Given the description of an element on the screen output the (x, y) to click on. 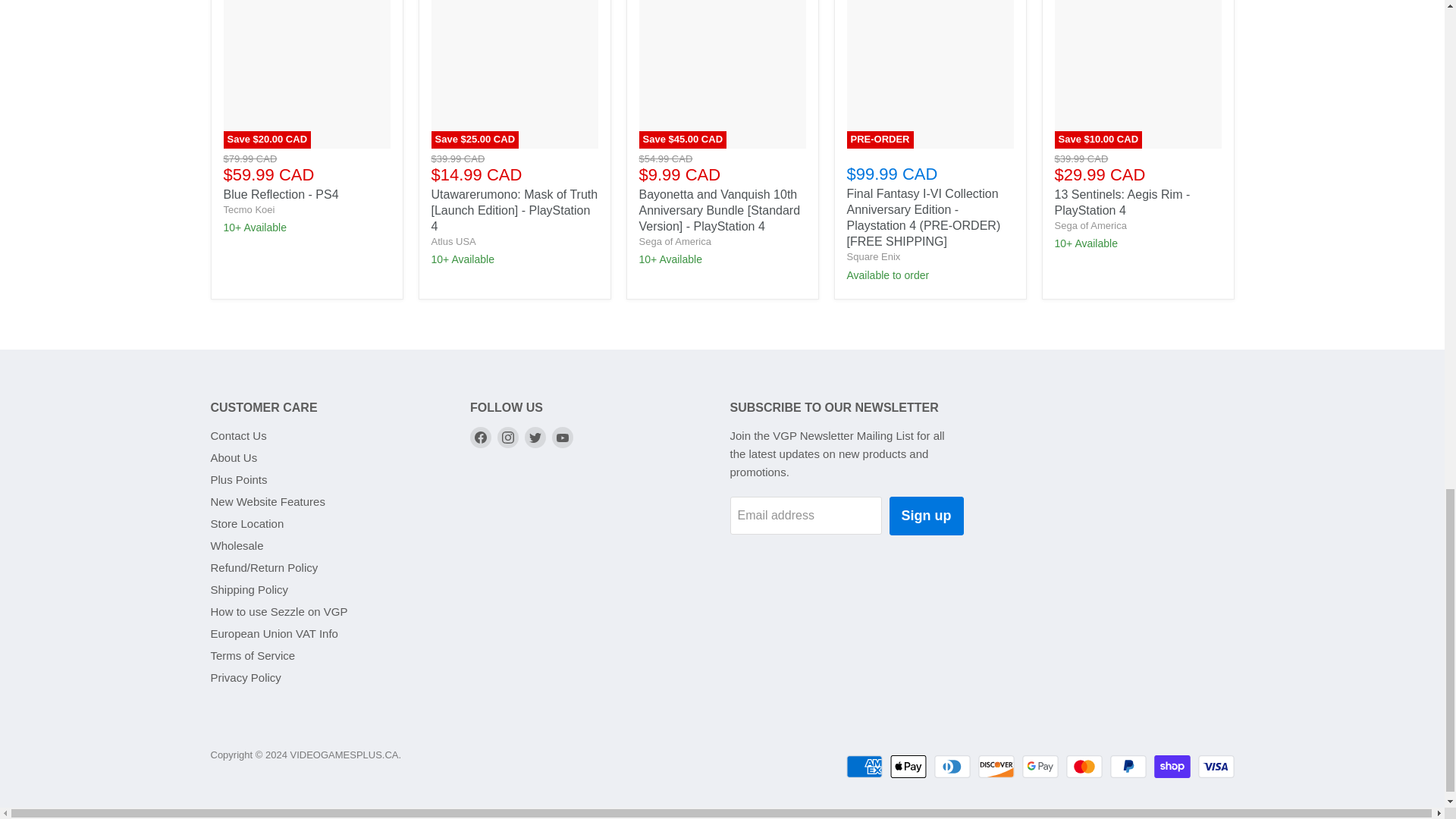
Square Enix (872, 256)
Atlus USA (453, 241)
Sega of America (674, 241)
Facebook (481, 436)
Instagram (507, 436)
Twitter (535, 436)
Sega of America (1089, 225)
YouTube (562, 436)
Tecmo Koei (248, 209)
